Given the description of an element on the screen output the (x, y) to click on. 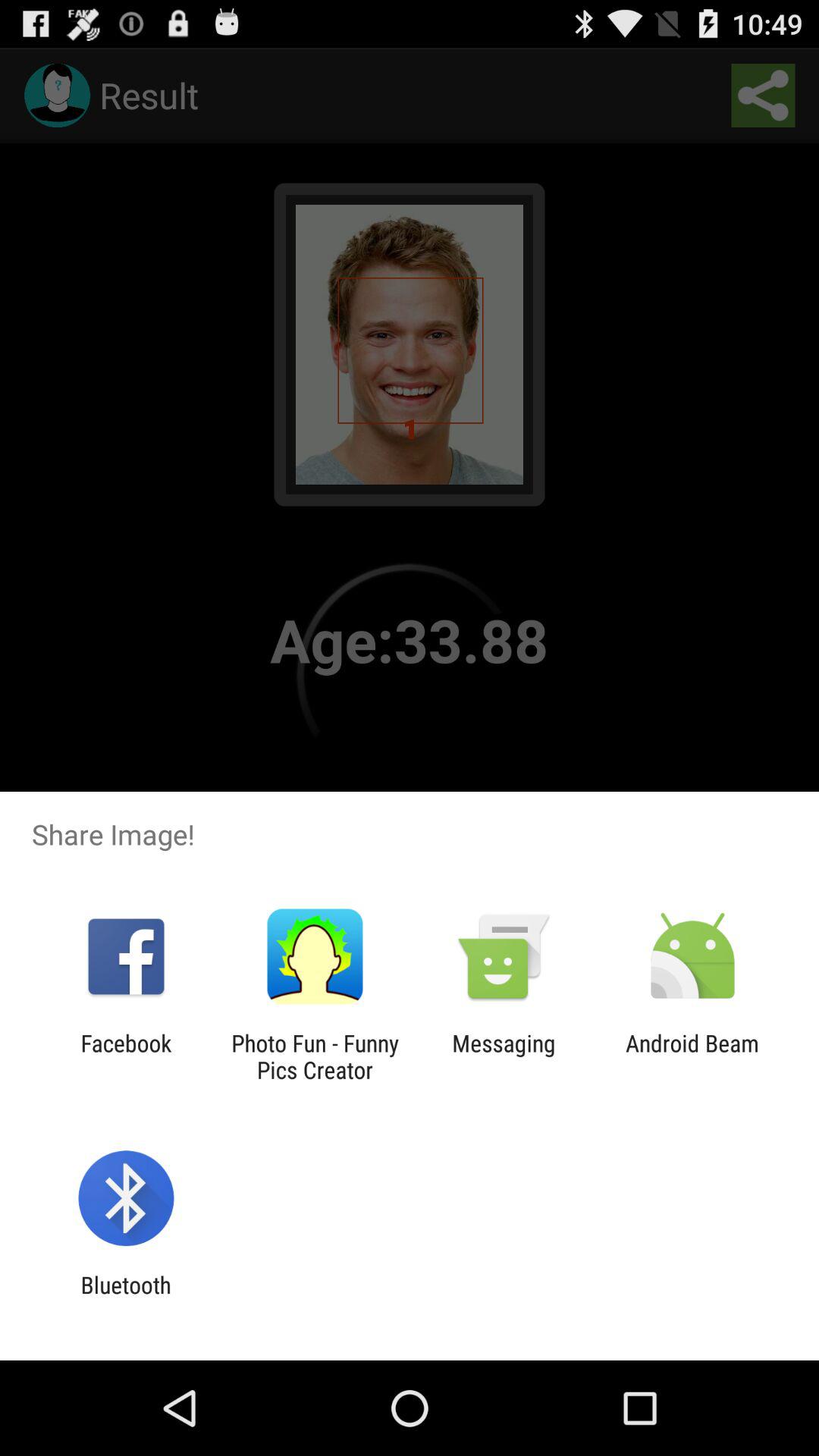
scroll to facebook (125, 1056)
